Given the description of an element on the screen output the (x, y) to click on. 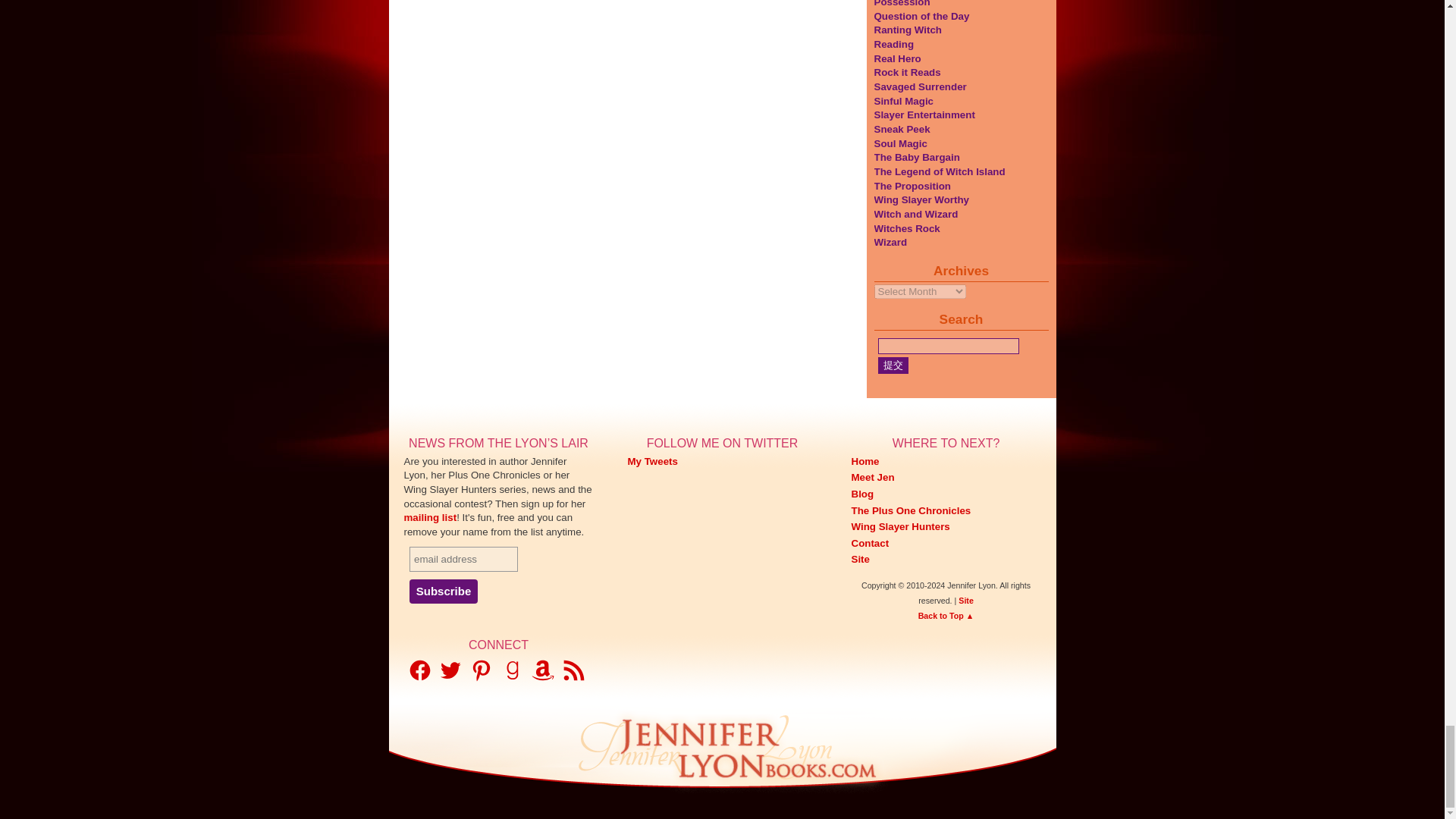
Subscribe (443, 591)
